Given the description of an element on the screen output the (x, y) to click on. 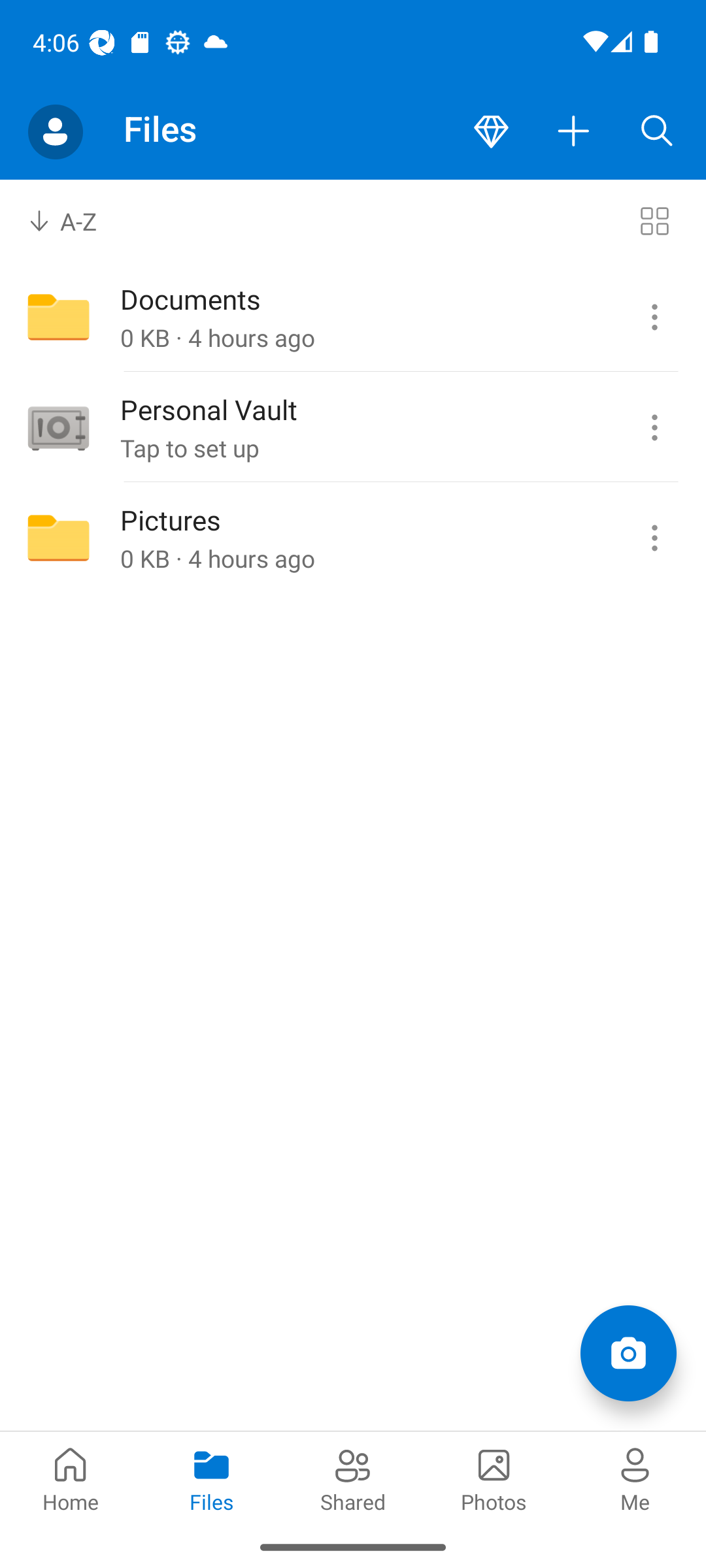
Account switcher (55, 131)
Premium button (491, 131)
More actions button (574, 131)
Search button (656, 131)
A-Z Sort by combo box, sort by name, A to Z (76, 220)
Switch to tiles view (654, 220)
Documents commands (654, 317)
Personal Vault commands (654, 427)
Pictures commands (654, 537)
Add items Scan (628, 1352)
Home pivot Home (70, 1478)
Shared pivot Shared (352, 1478)
Photos pivot Photos (493, 1478)
Me pivot Me (635, 1478)
